Given the description of an element on the screen output the (x, y) to click on. 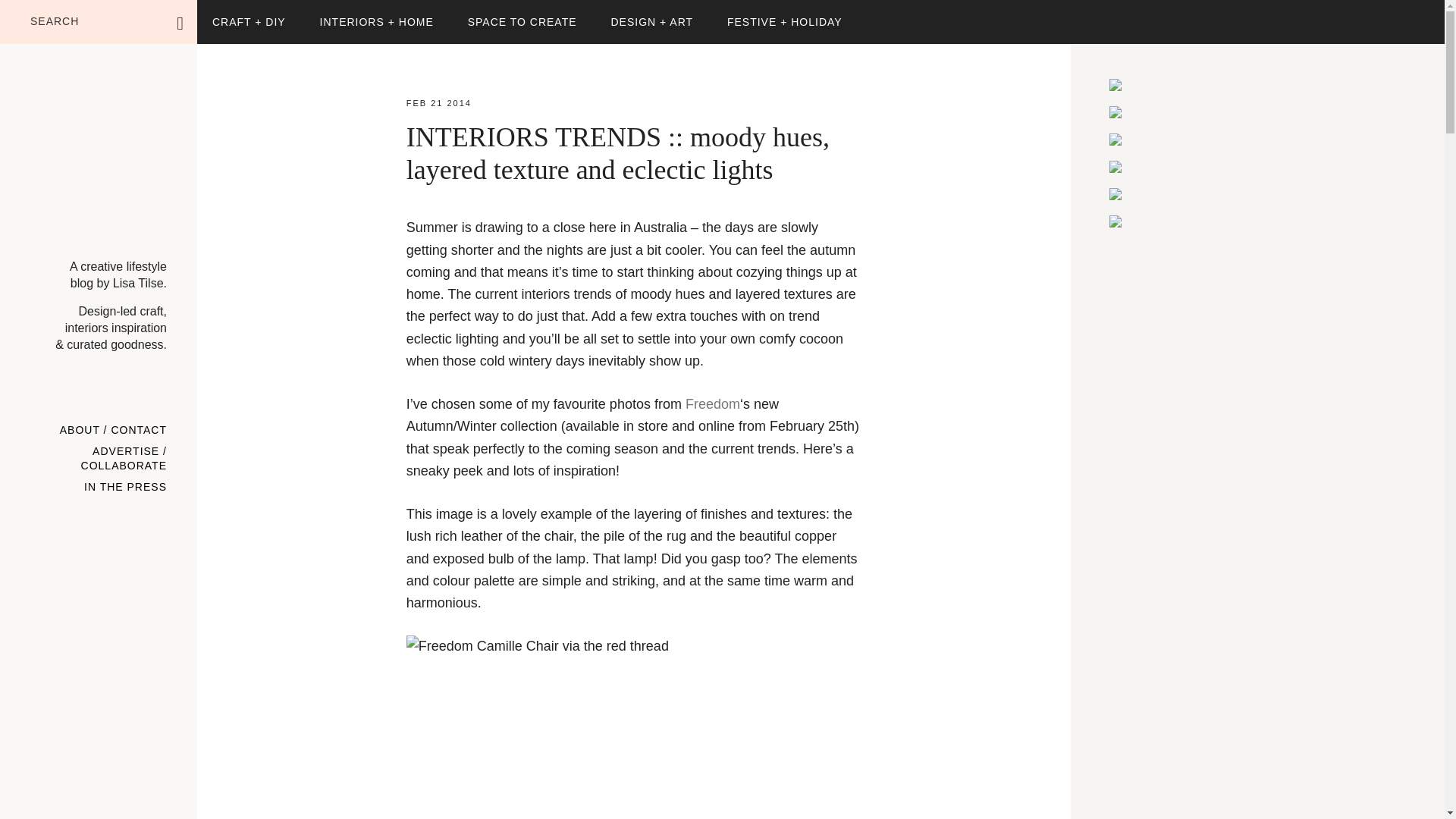
SPACE TO CREATE (522, 22)
Search (228, 13)
CONTACT (138, 430)
Search (228, 13)
Freedom Australia (712, 403)
